Given the description of an element on the screen output the (x, y) to click on. 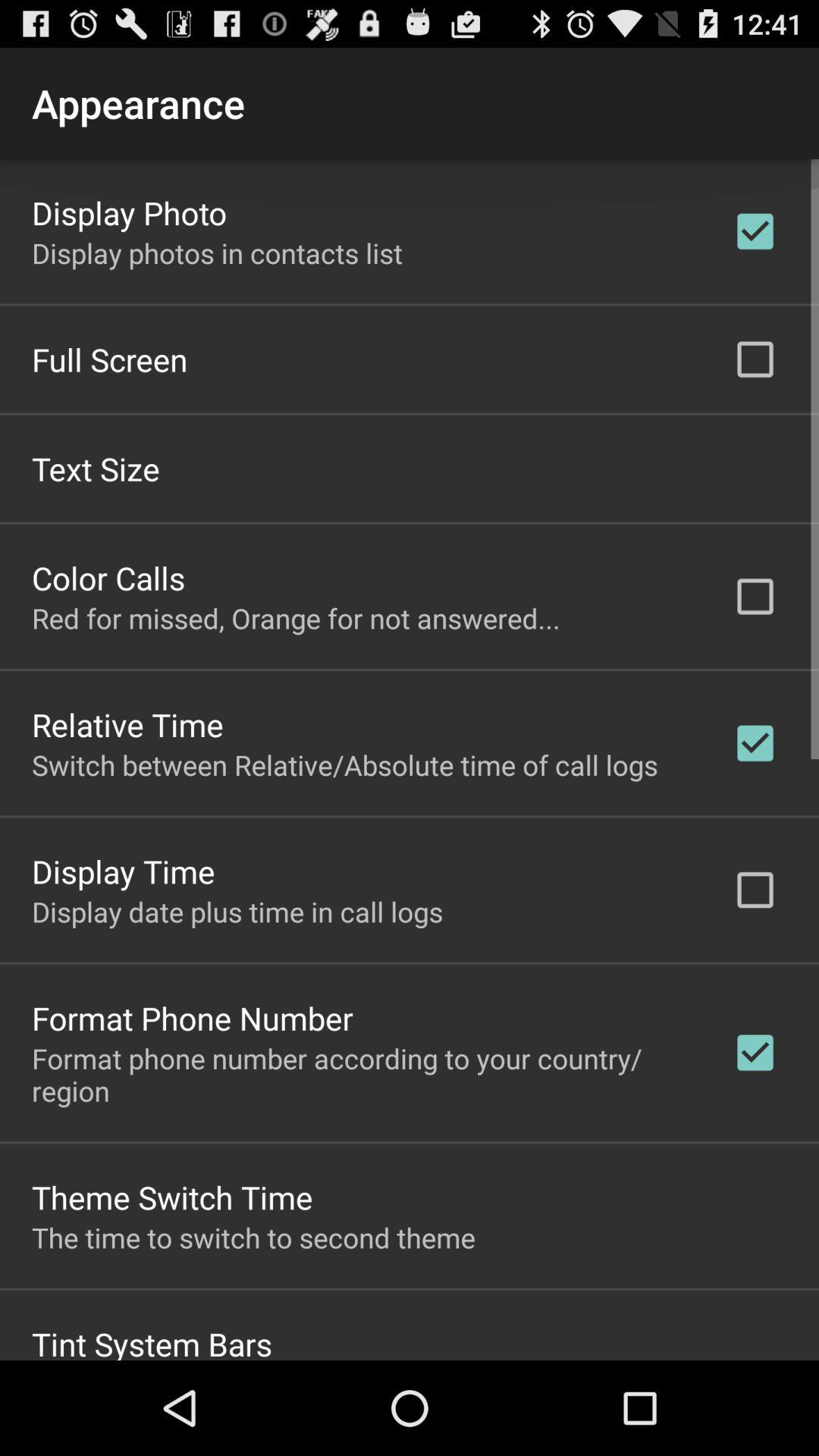
swipe to the display photo icon (128, 211)
